Given the description of an element on the screen output the (x, y) to click on. 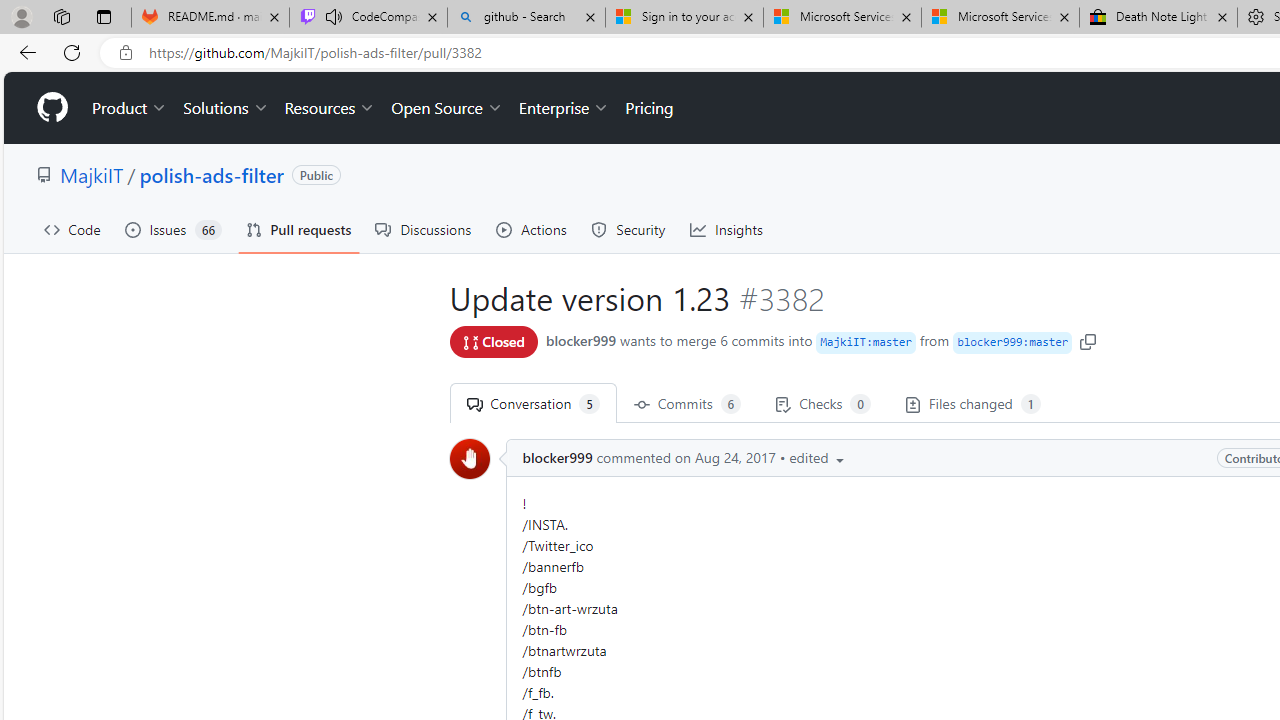
Security (628, 229)
Product (130, 107)
Insights (726, 229)
 Files changed 1 (972, 403)
Issues66 (173, 229)
Issues 66 (173, 229)
